Given the description of an element on the screen output the (x, y) to click on. 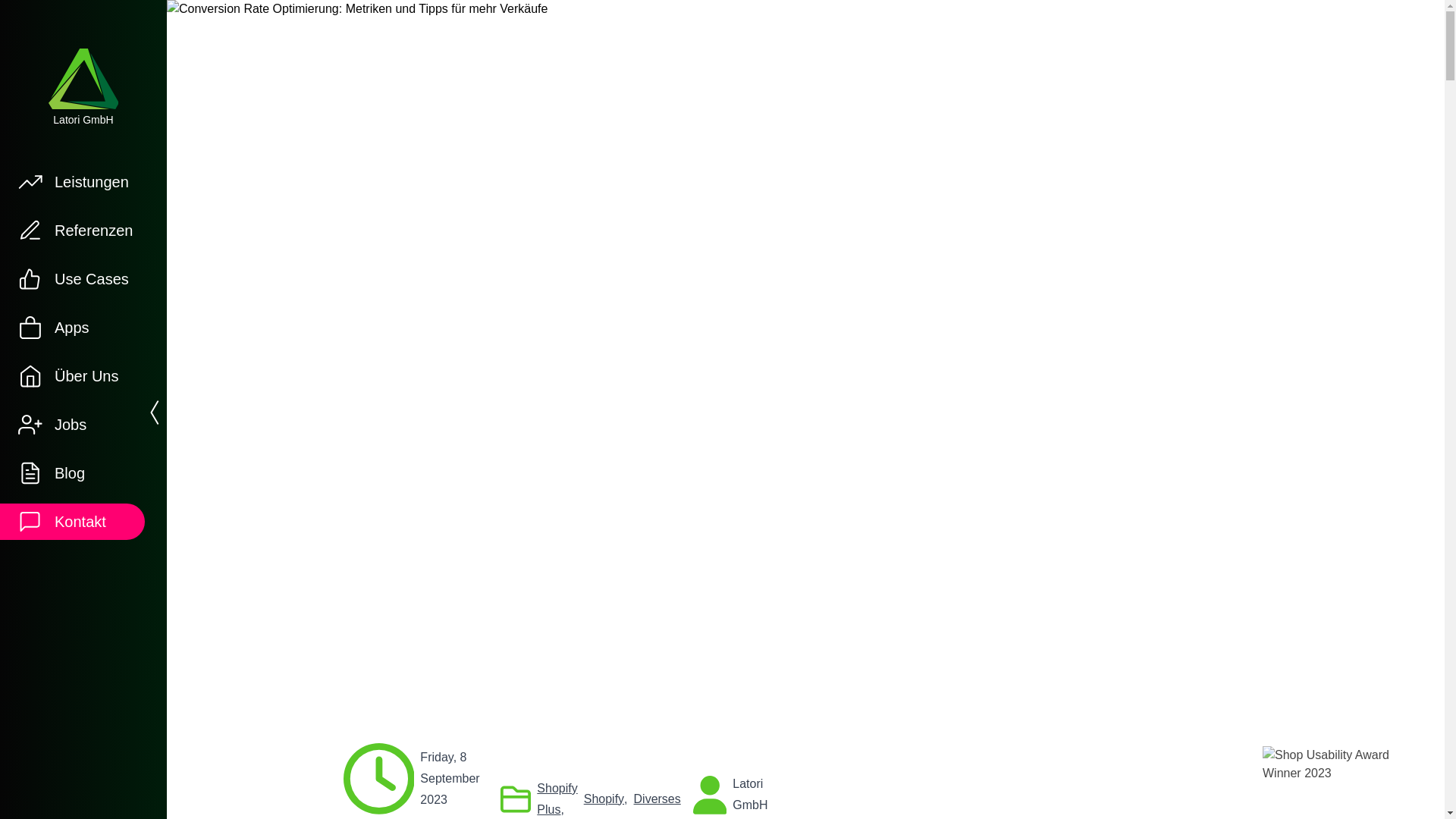
Blog (74, 473)
Kontakt (74, 521)
Shopify (603, 798)
Jobs (74, 424)
Kontakt (74, 521)
Leistungen (74, 181)
Referenzen (74, 230)
Jobs (74, 424)
Blog (74, 473)
Referenzen (74, 230)
Use Cases (74, 278)
Leistungen (74, 181)
Diverses (657, 798)
Latori GmbH (83, 87)
Shopify Plus (556, 798)
